Given the description of an element on the screen output the (x, y) to click on. 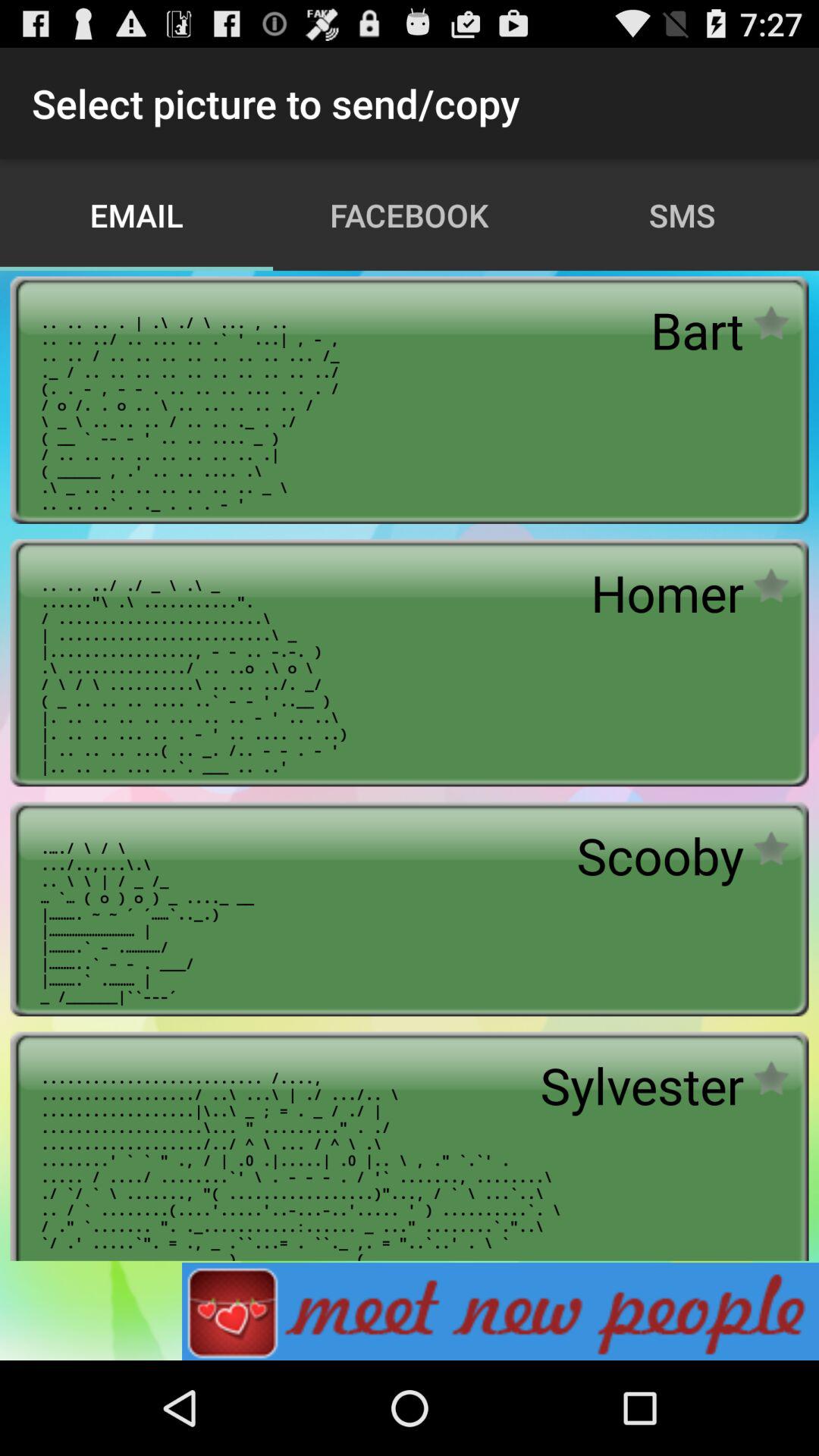
choose icon below the sms icon (696, 330)
